Given the description of an element on the screen output the (x, y) to click on. 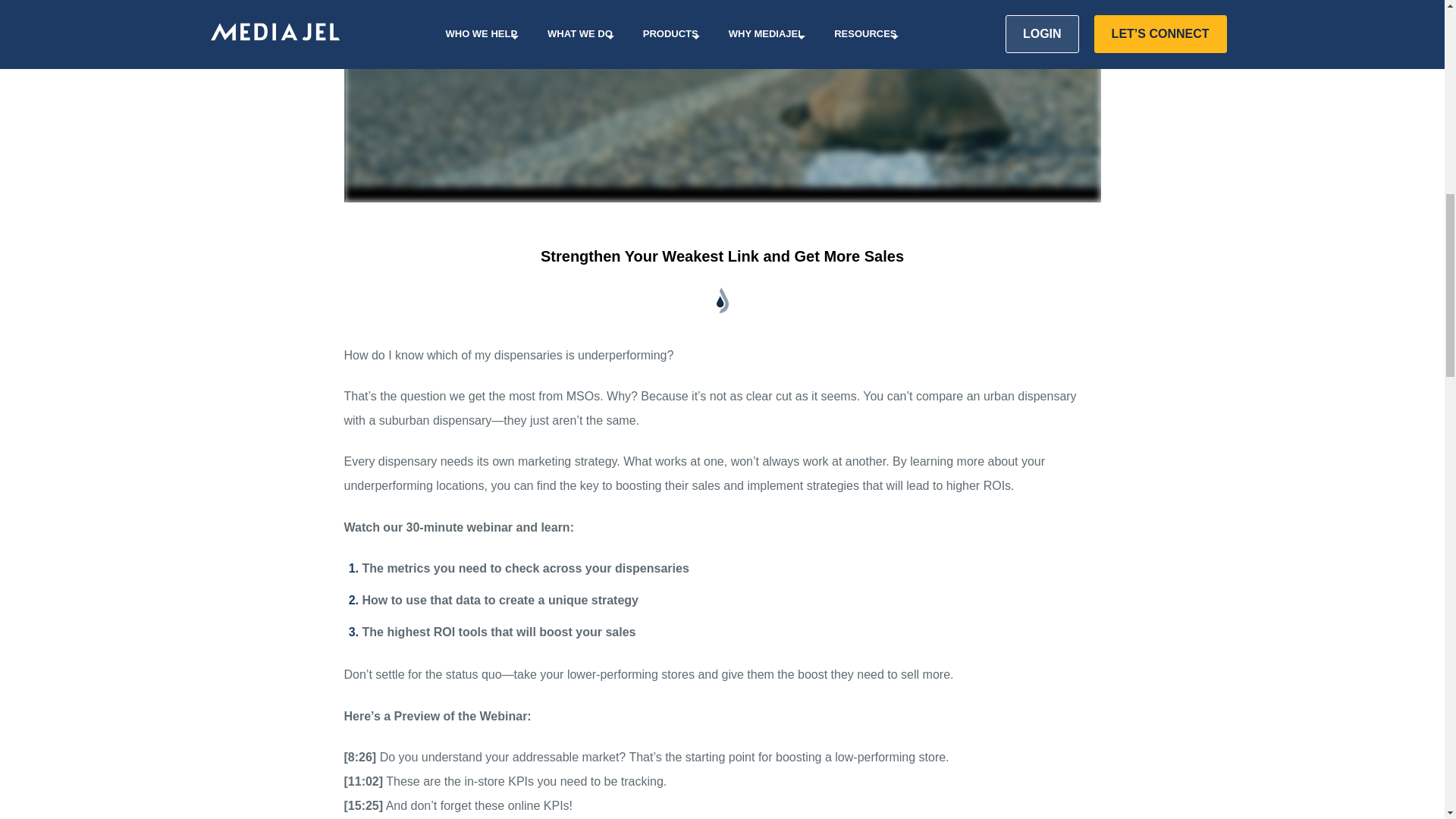
jelldrop (722, 299)
